Given the description of an element on the screen output the (x, y) to click on. 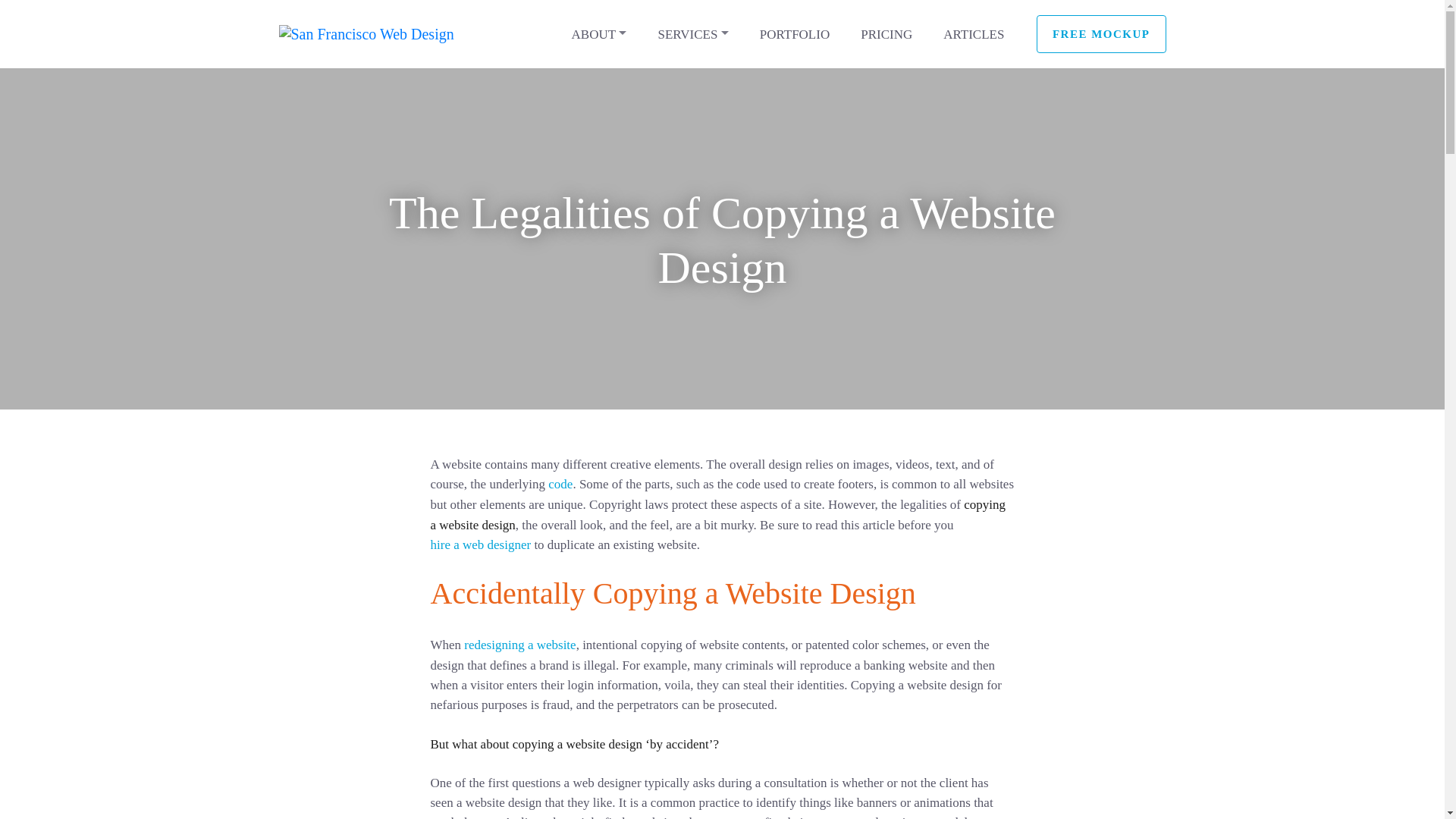
ARTICLES (973, 33)
FREE MOCKUP (1101, 34)
PRICING (886, 33)
PORTFOLIO (794, 33)
Pricing (886, 33)
ABOUT (599, 33)
Services (691, 33)
Portfolio (794, 33)
Free Mockup (1101, 34)
About (599, 33)
